Given the description of an element on the screen output the (x, y) to click on. 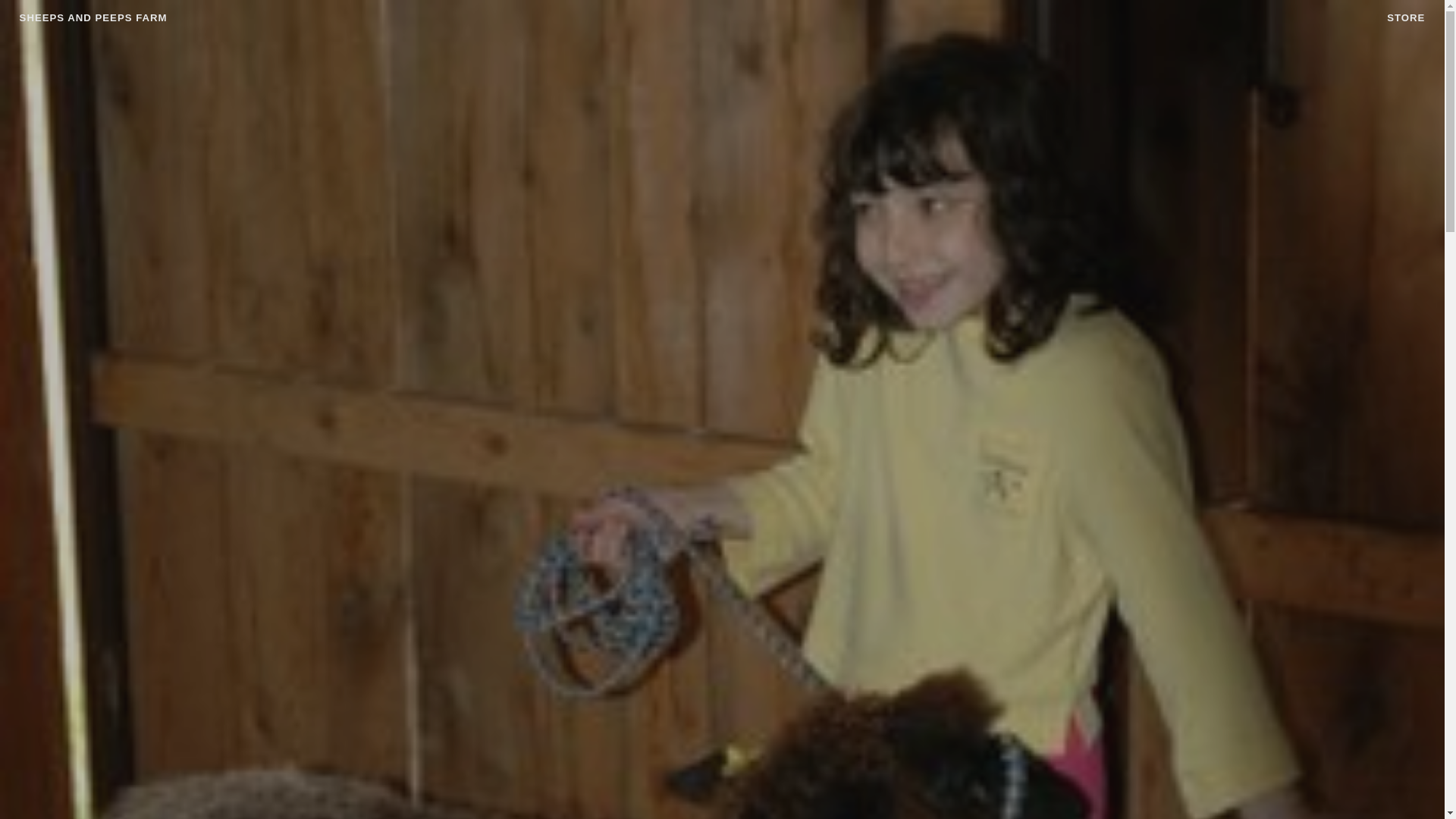
SHEEPS AND PEEPS FARM (93, 17)
Search (37, 14)
STORE (1406, 17)
